Given the description of an element on the screen output the (x, y) to click on. 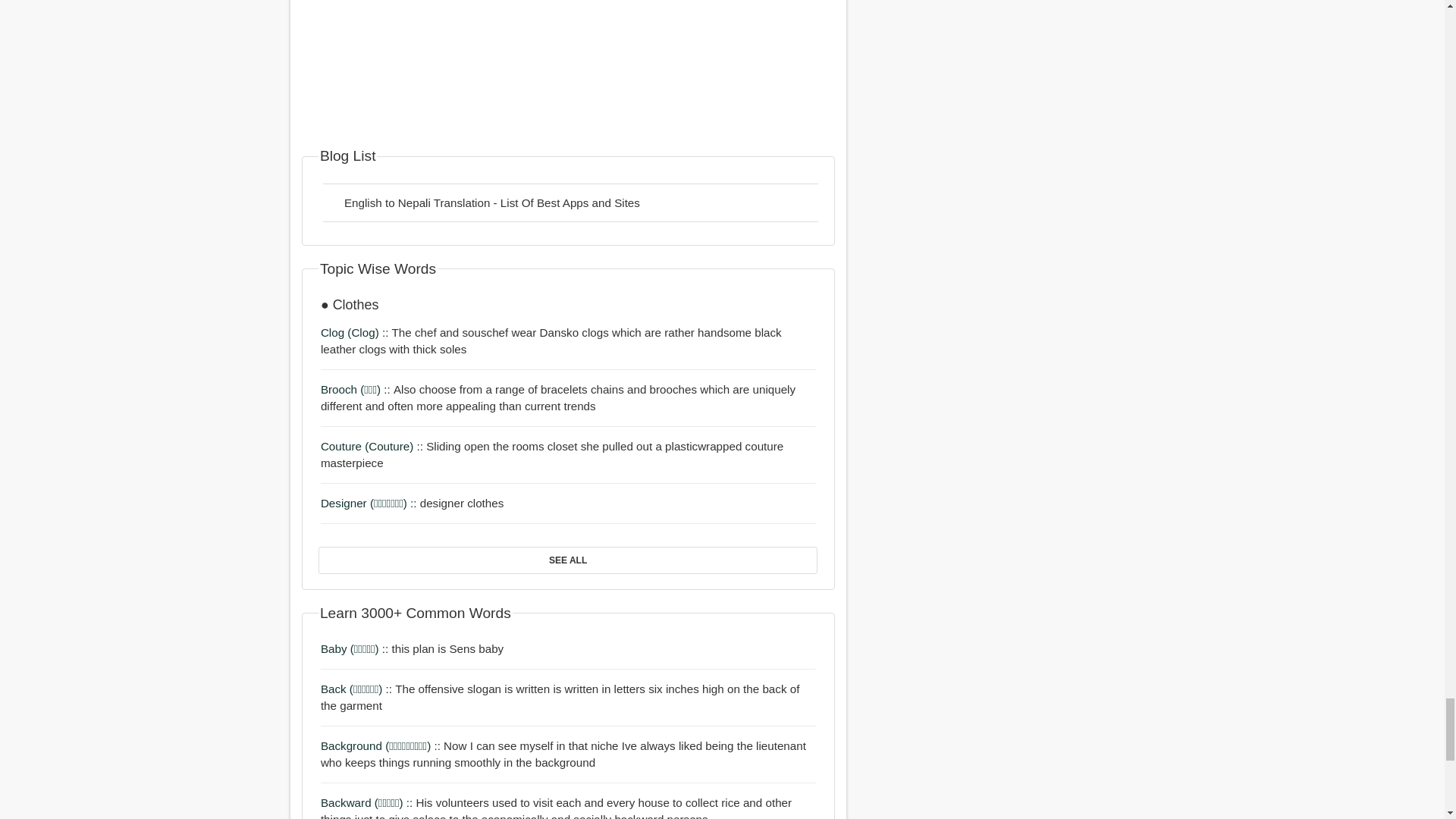
SEE ALL (567, 560)
English to Nepali Translation - List Of Best Apps and Sites (570, 202)
SEE ALL (567, 560)
